Given the description of an element on the screen output the (x, y) to click on. 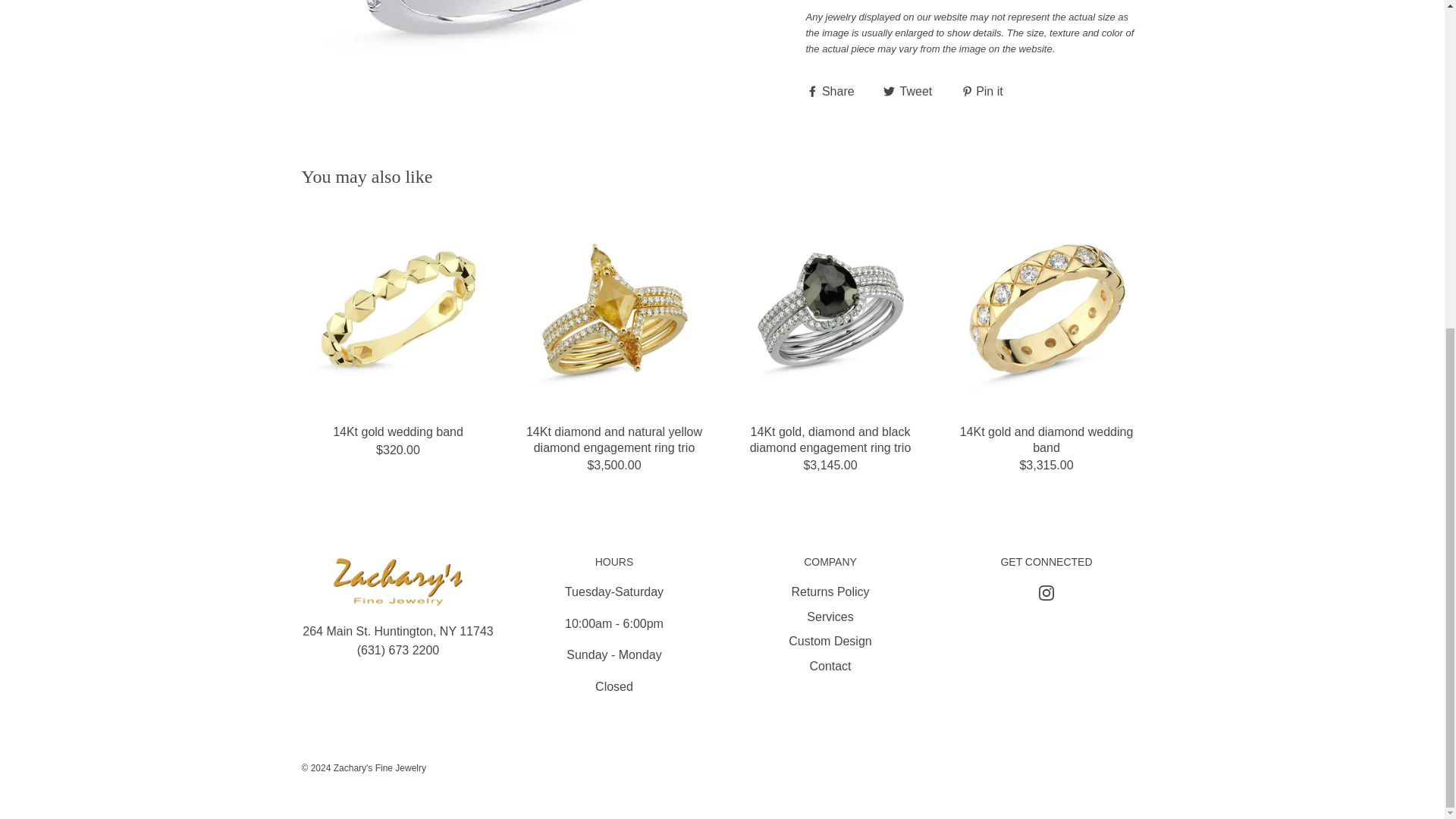
Share (832, 90)
14Kt gold wedding band (398, 308)
14Kt gold and diamond wedding band (1045, 308)
14Kt diamond and natural yellow diamond engagement ring trio (613, 308)
Tweet (909, 90)
14Kt gold, diamond and black diamond engagement ring trio (830, 308)
Instagram icon (1046, 592)
Pin it (981, 90)
